Given the description of an element on the screen output the (x, y) to click on. 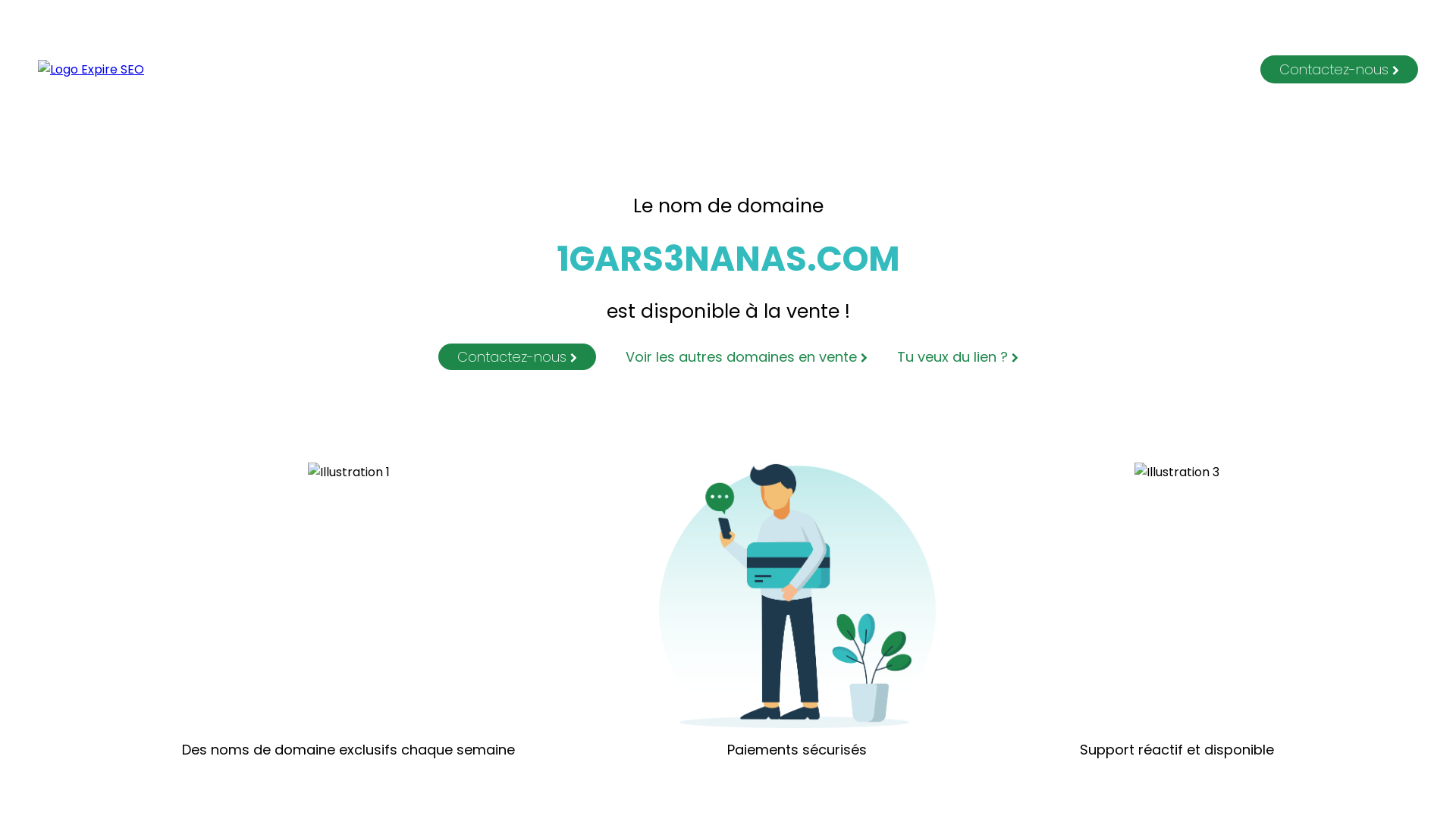
Contactez-nous Element type: text (517, 356)
Tu veux du lien ? Element type: text (944, 356)
Contactez-nous Element type: text (1339, 69)
Voir les autres domaines en vente Element type: text (733, 356)
